Given the description of an element on the screen output the (x, y) to click on. 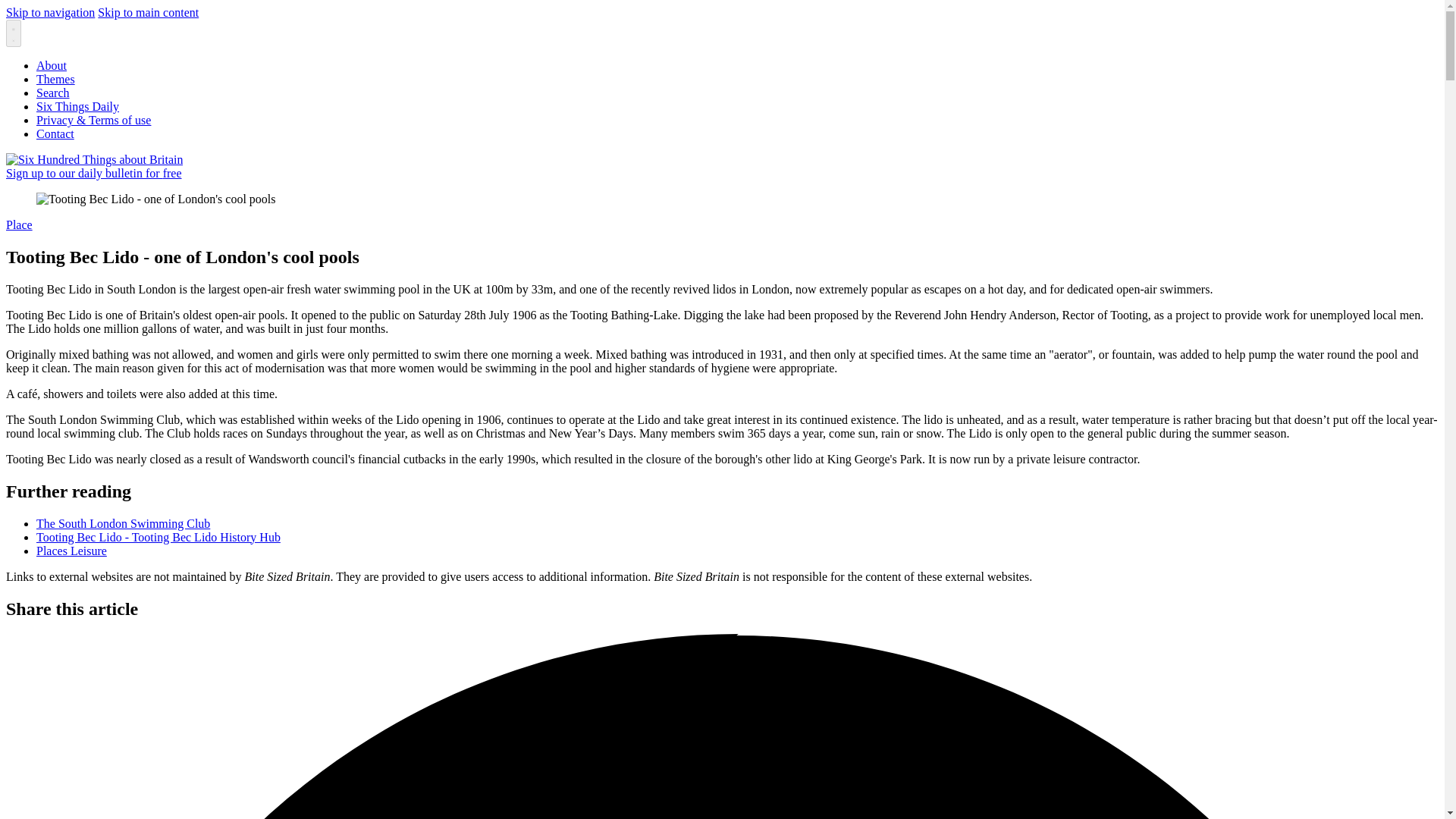
Themes (55, 78)
Place (18, 224)
Tooting Bec Lido - Tooting Bec Lido History Hub (158, 536)
Places Leisure (71, 550)
Skip to navigation (49, 11)
Skip to main content (147, 11)
Sign up to our daily bulletin for free (93, 173)
Six Things Daily (77, 106)
Contact (55, 133)
About (51, 65)
Search (52, 92)
The South London Swimming Club (122, 522)
